Given the description of an element on the screen output the (x, y) to click on. 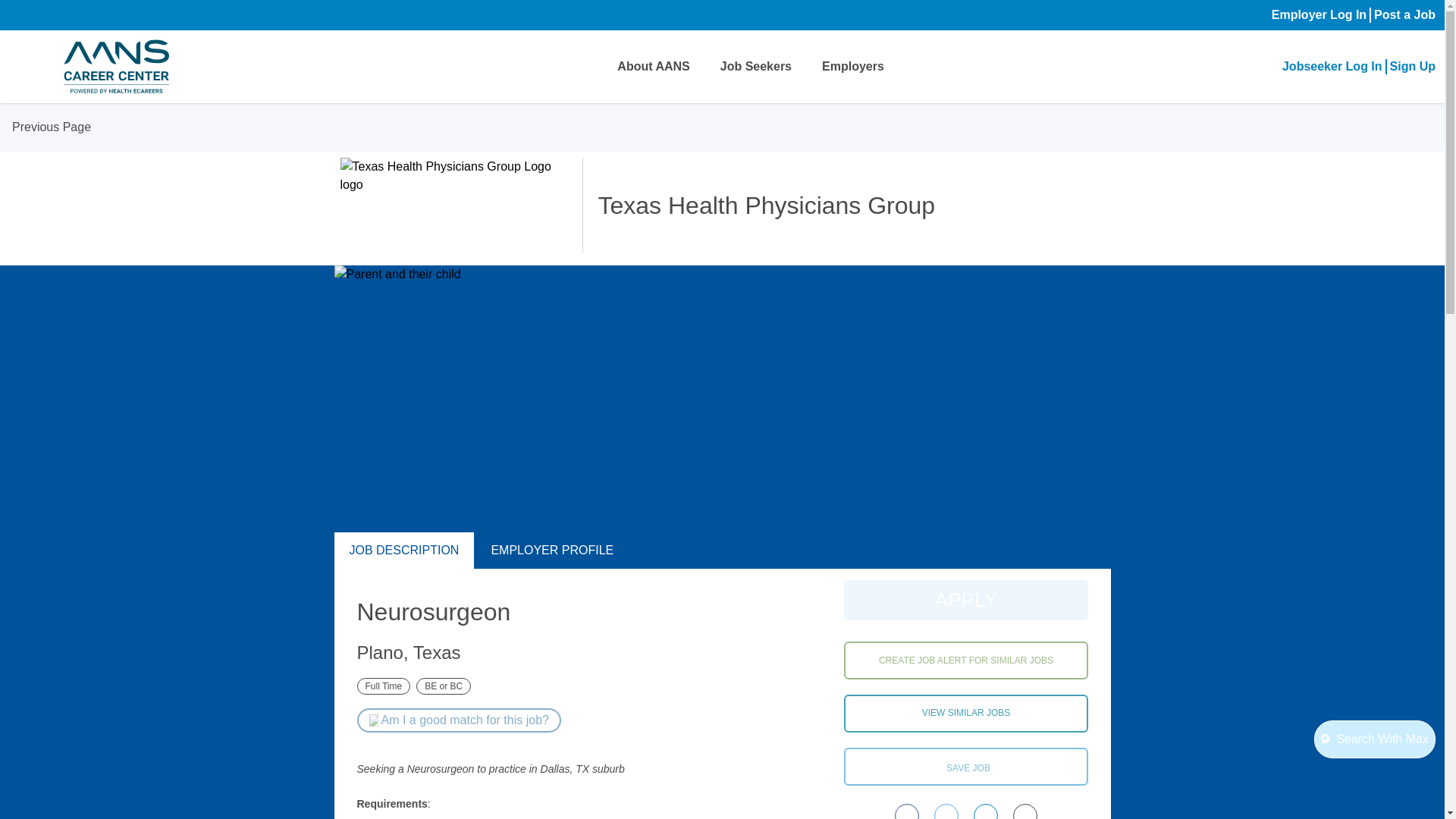
twitter (946, 811)
Employer Log In (1319, 14)
Sign Up (1412, 66)
Employers (852, 66)
About AANS (652, 66)
Search With Max (1374, 739)
linkedin (985, 811)
Job Seekers (756, 66)
Previous Page (49, 126)
EMPLOYER PROFILE (552, 550)
JOB DESCRIPTION (403, 550)
facebook (906, 811)
Jobseeker Log In (1331, 66)
Post a Job (1404, 14)
email (1024, 811)
